Given the description of an element on the screen output the (x, y) to click on. 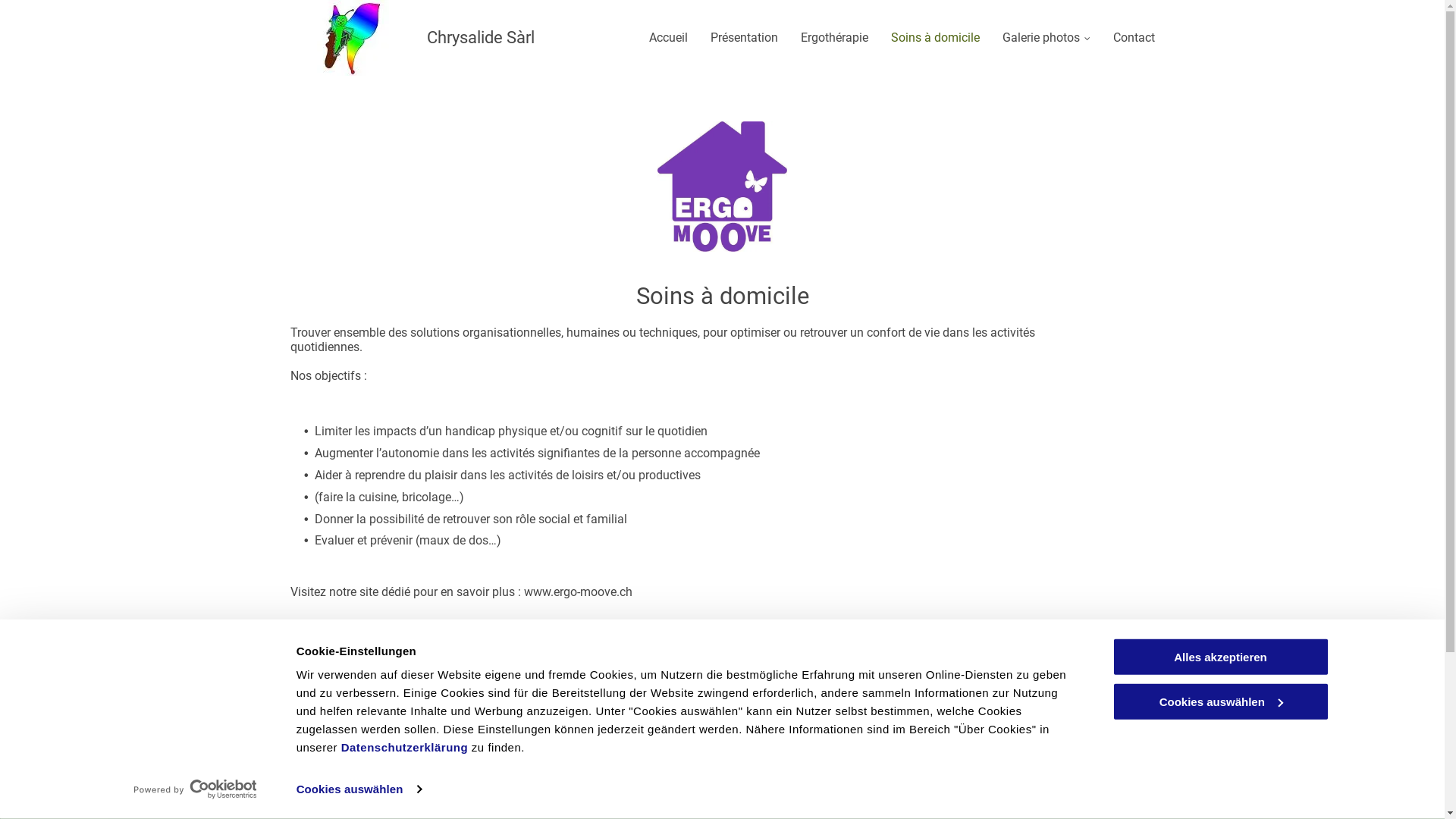
www.ergo-moove.ch Element type: text (577, 591)
Accueil Element type: text (668, 37)
Alles akzeptieren Element type: text (1219, 656)
022 794 74 20 Element type: text (967, 650)
secretariatt@ergo-moove.ch Element type: text (742, 674)
Galerie photos Element type: text (1046, 37)
Contact Element type: text (1133, 37)
